Given the description of an element on the screen output the (x, y) to click on. 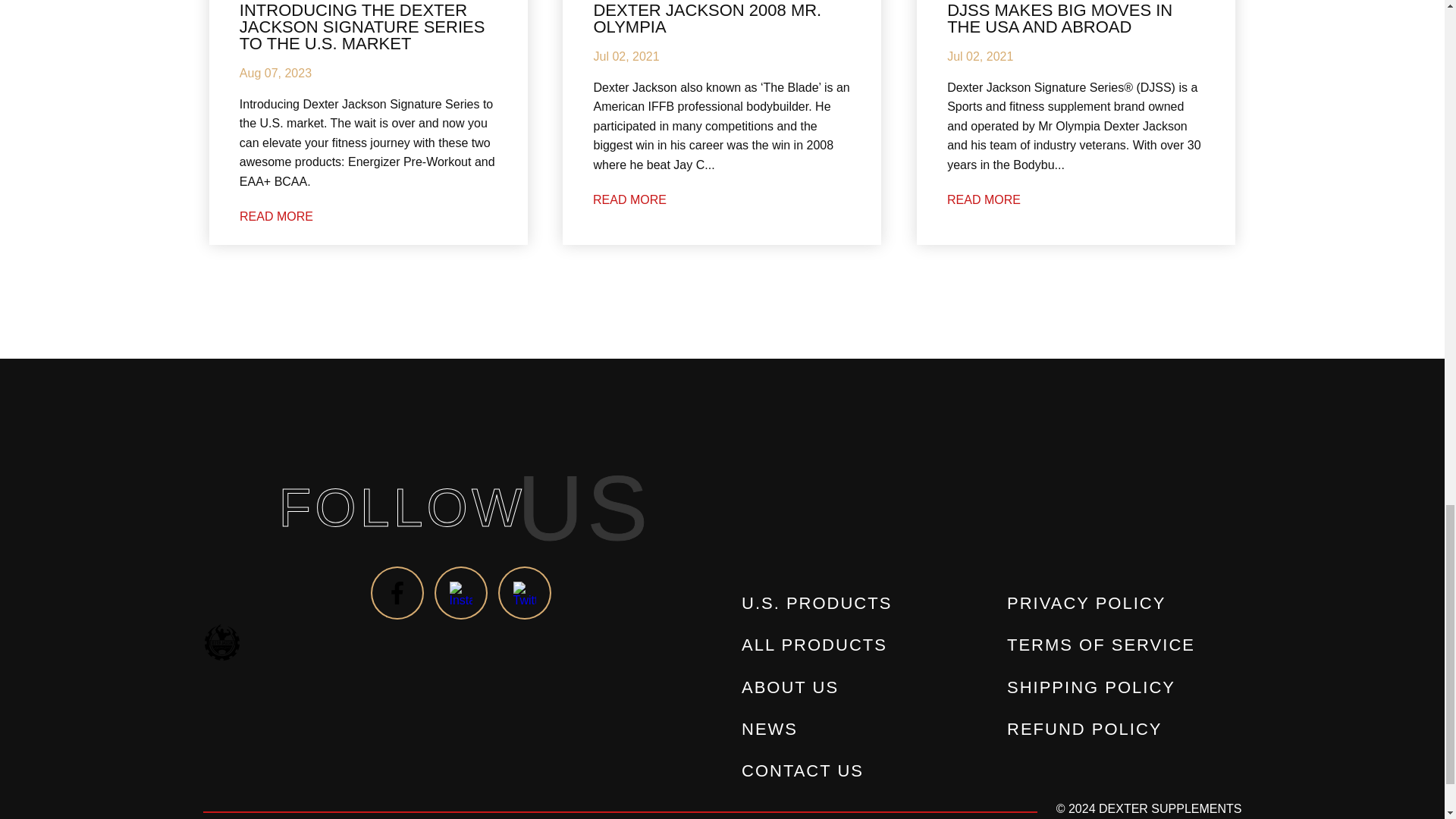
TERMS OF SERVICE (1100, 644)
U.S. PRODUCTS (816, 602)
CONTACT US (801, 770)
NEWS (769, 728)
SHIPPING POLICY (1090, 687)
PRIVACY POLICY (1085, 602)
ABOUT US (789, 687)
ALL PRODUCTS (814, 644)
REFUND POLICY (1083, 728)
